Given the description of an element on the screen output the (x, y) to click on. 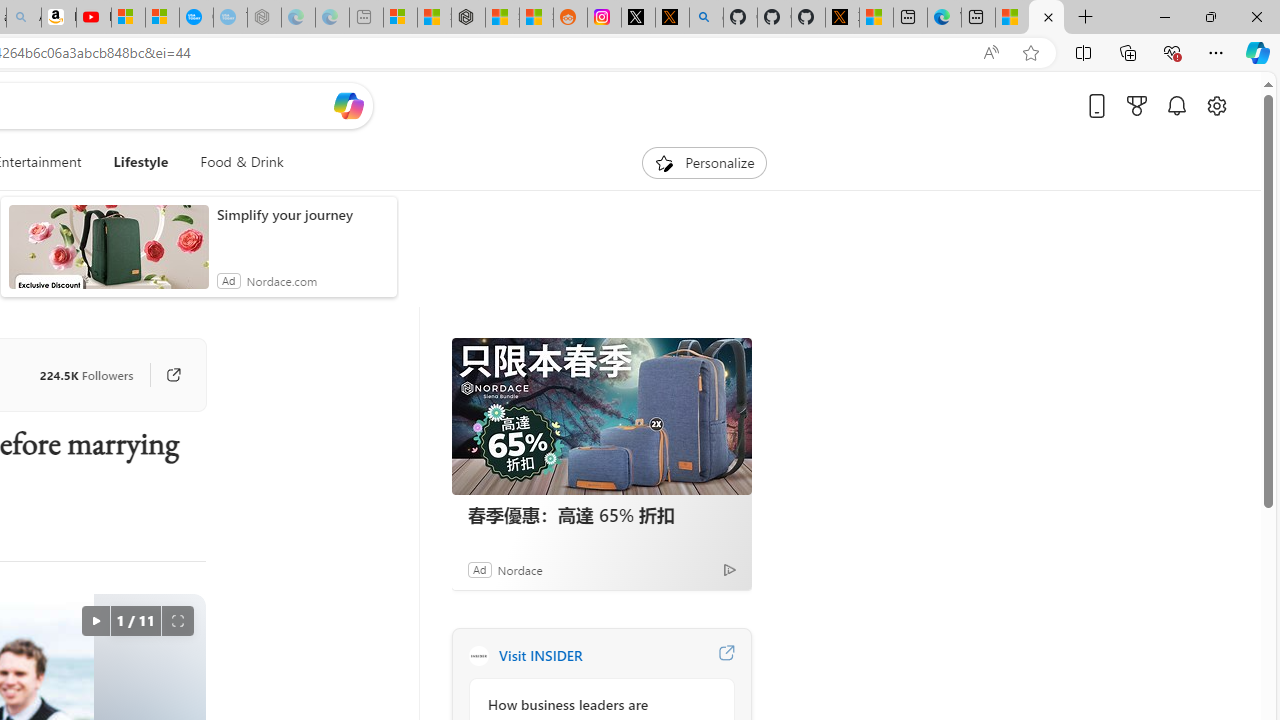
Nordace.com (281, 280)
Go to publisher's site (163, 374)
